Given the description of an element on the screen output the (x, y) to click on. 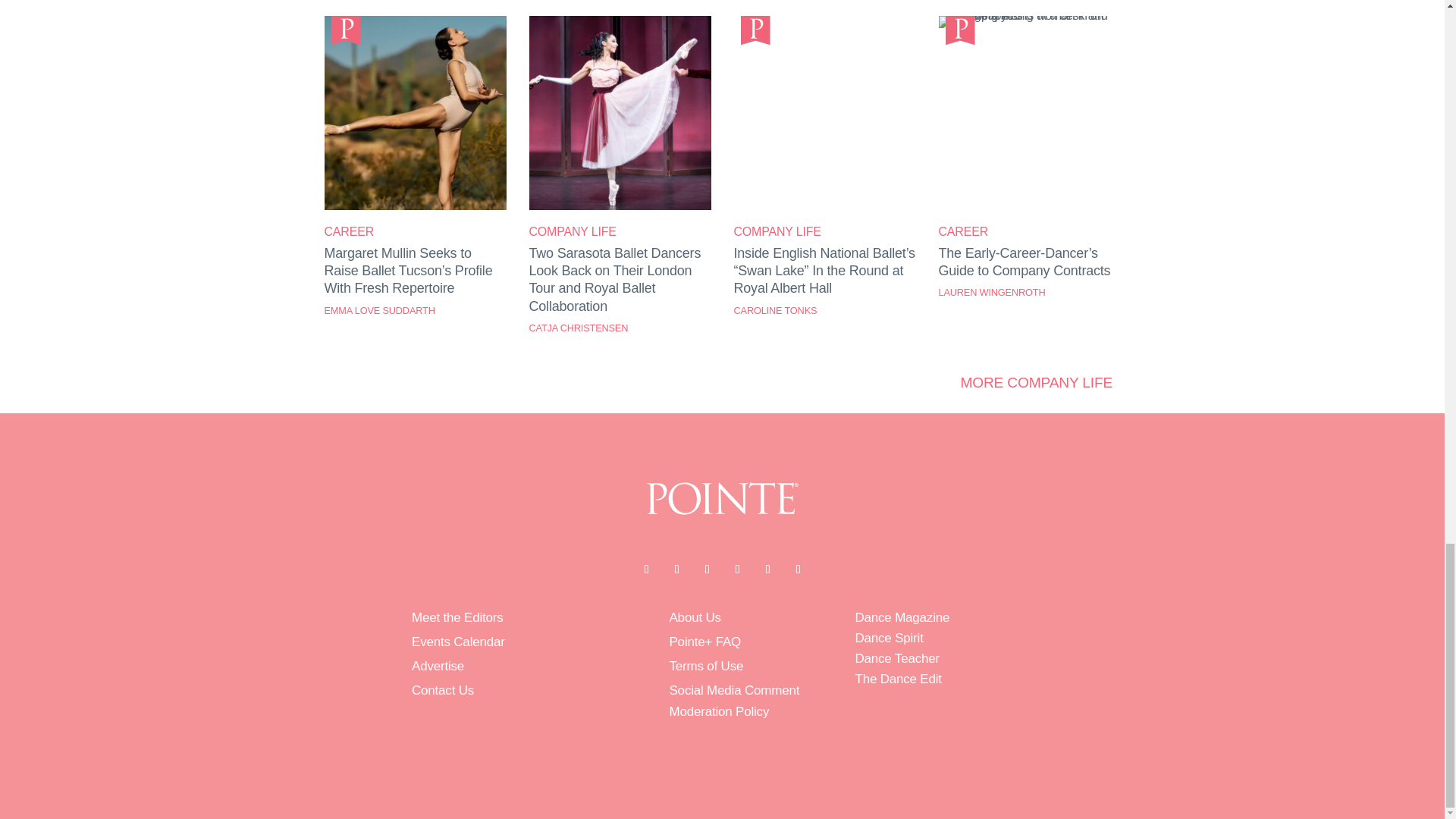
Follow on Youtube (737, 569)
Follow on Facebook (645, 569)
Follow on Instagram (706, 569)
Follow on Pinterest (766, 569)
Follow on Twitter (675, 569)
